Given the description of an element on the screen output the (x, y) to click on. 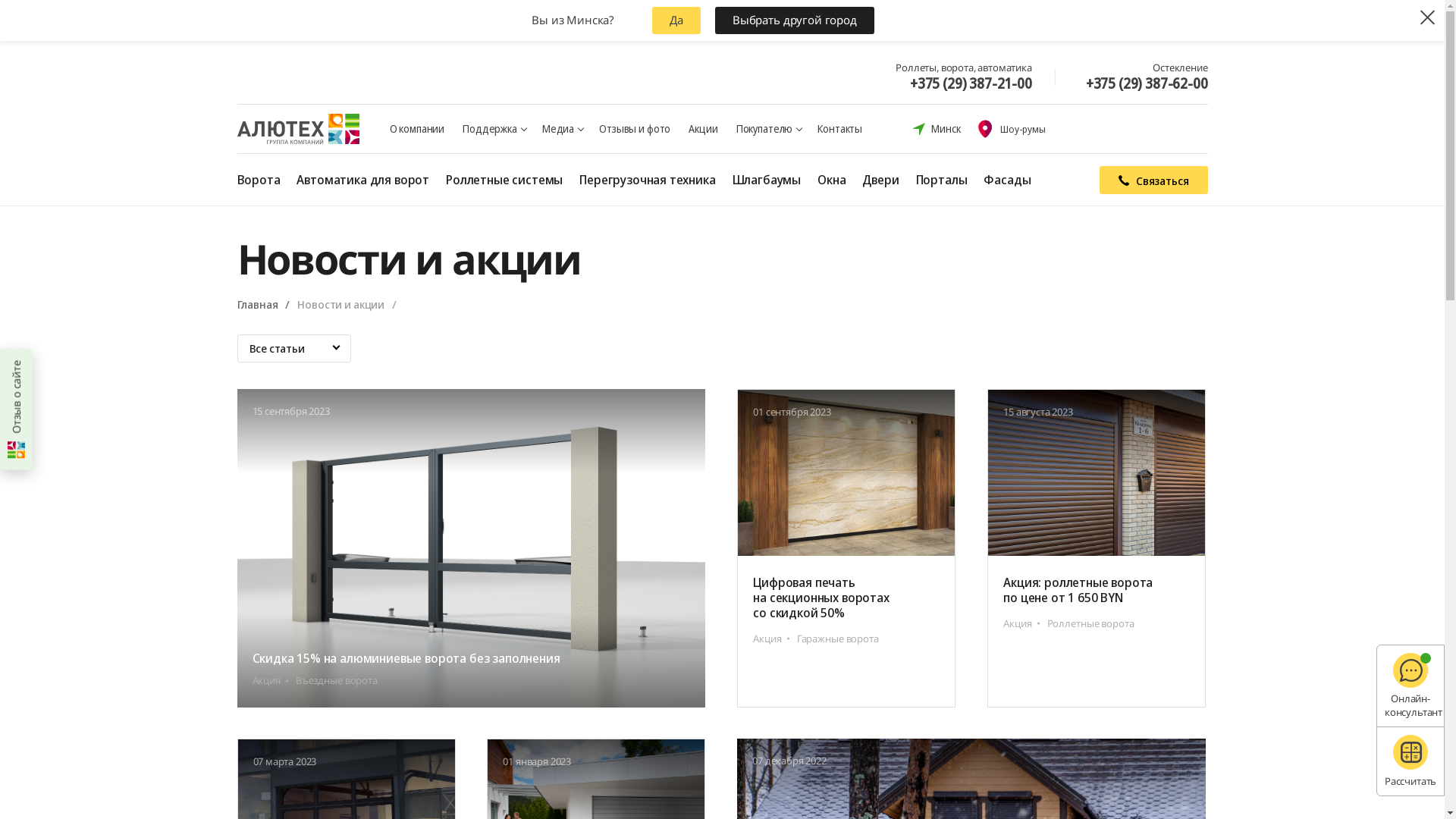
+375 (29) 387-21-00 Element type: text (971, 83)
+375 (29) 387-62-00 Element type: text (1146, 83)
